Given the description of an element on the screen output the (x, y) to click on. 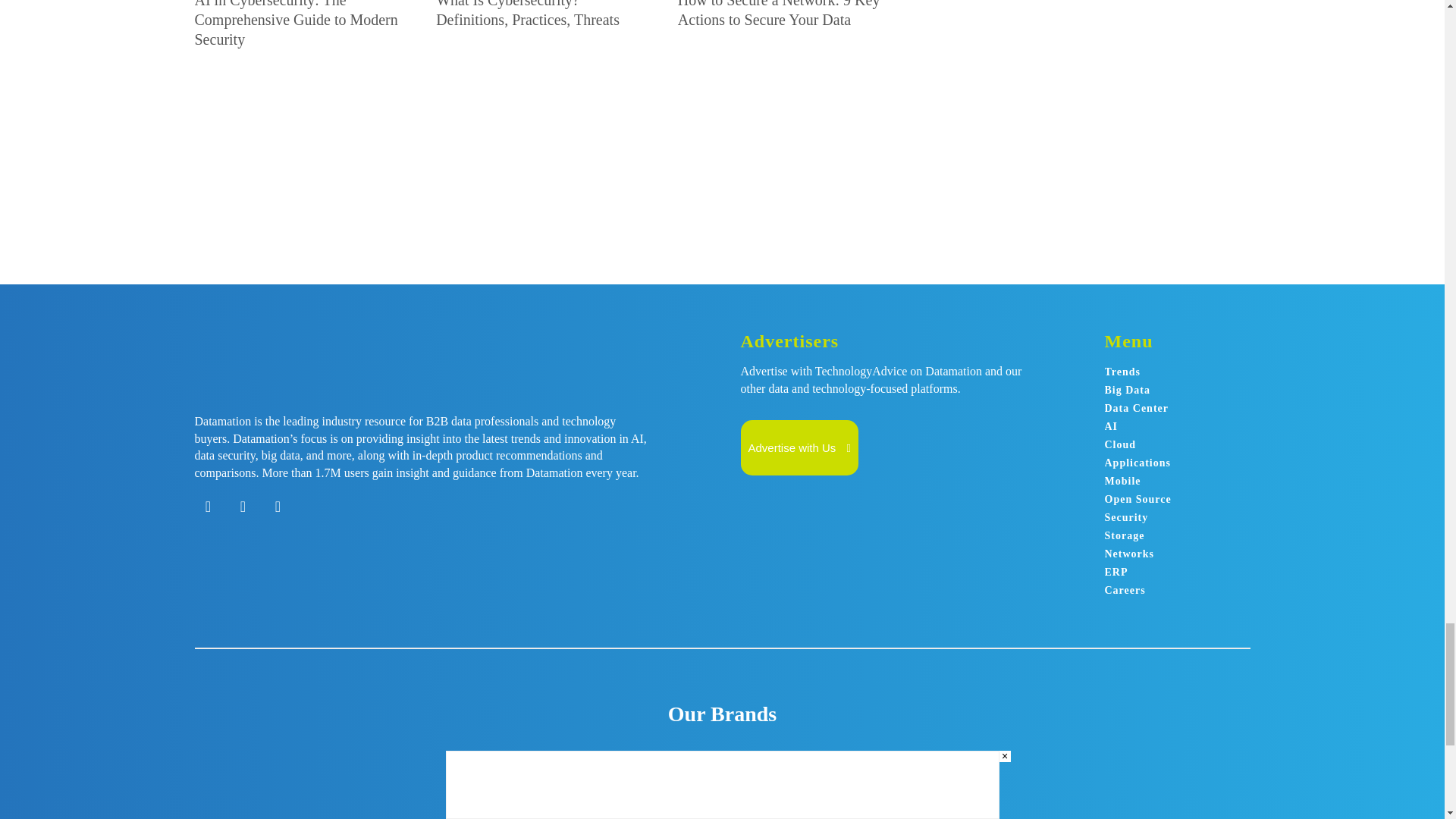
What Is Cybersecurity? Definitions, Practices, Threats (527, 13)
What Is Cybersecurity? Definitions, Practices, Threats (540, 126)
How to Secure a Network: 9 Key Actions to Secure Your Data (779, 13)
How to Secure a Network: 9 Key Actions to Secure Your Data (782, 126)
